Given the description of an element on the screen output the (x, y) to click on. 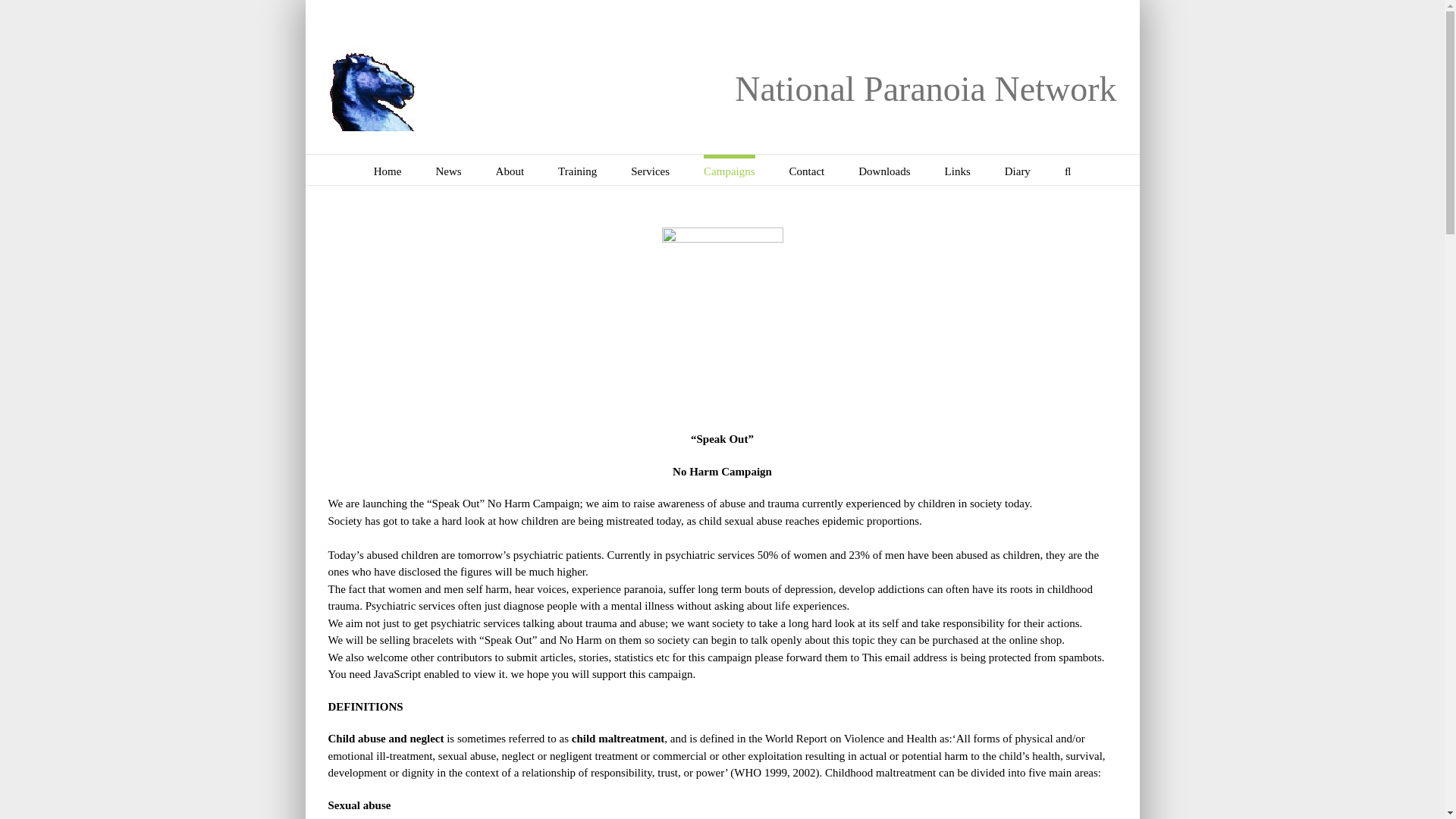
Services (649, 169)
Campaigns (729, 169)
Training (576, 169)
About (510, 169)
Home (387, 169)
Contact (807, 169)
Downloads (884, 169)
